Given the description of an element on the screen output the (x, y) to click on. 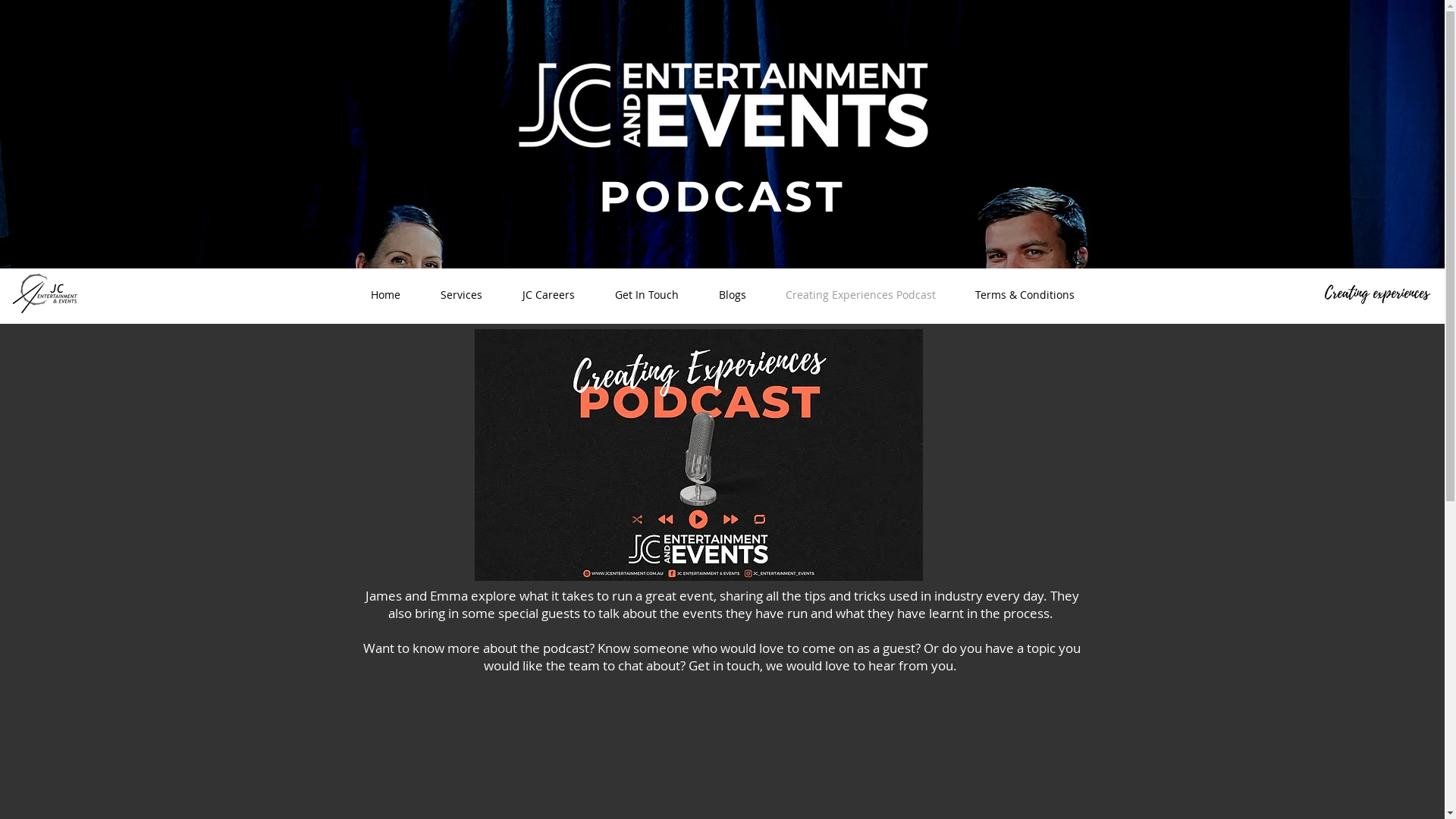
Home Element type: text (385, 294)
Get In Touch Element type: text (646, 294)
Creating Experiences Podcast Element type: text (860, 294)
Blogs Element type: text (732, 294)
Terms & Conditions Element type: text (1024, 294)
JC Careers Element type: text (548, 294)
